Given the description of an element on the screen output the (x, y) to click on. 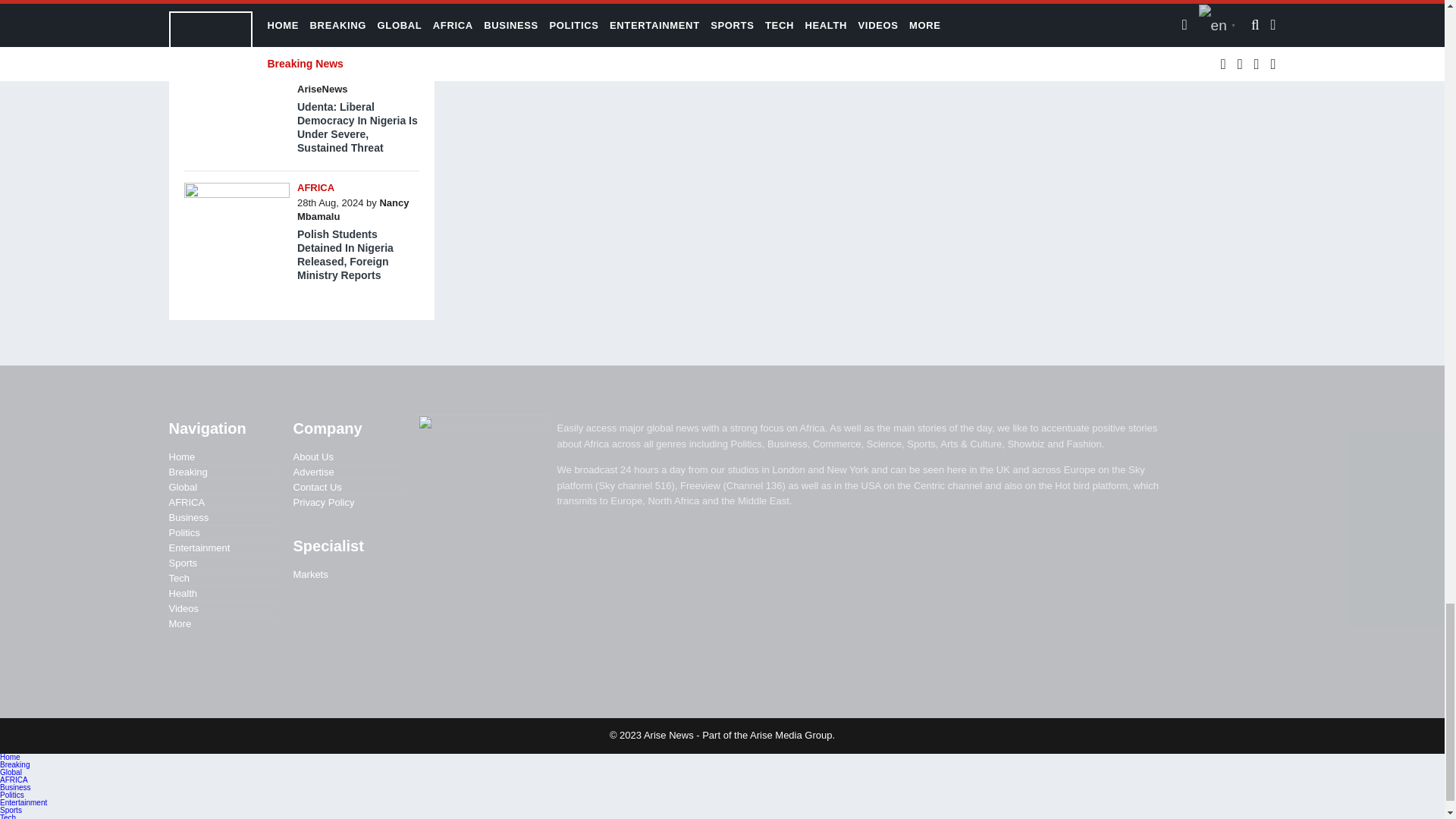
WhatsApp (651, 4)
Facebook (566, 4)
Twitter (595, 4)
Instagram (622, 4)
